Given the description of an element on the screen output the (x, y) to click on. 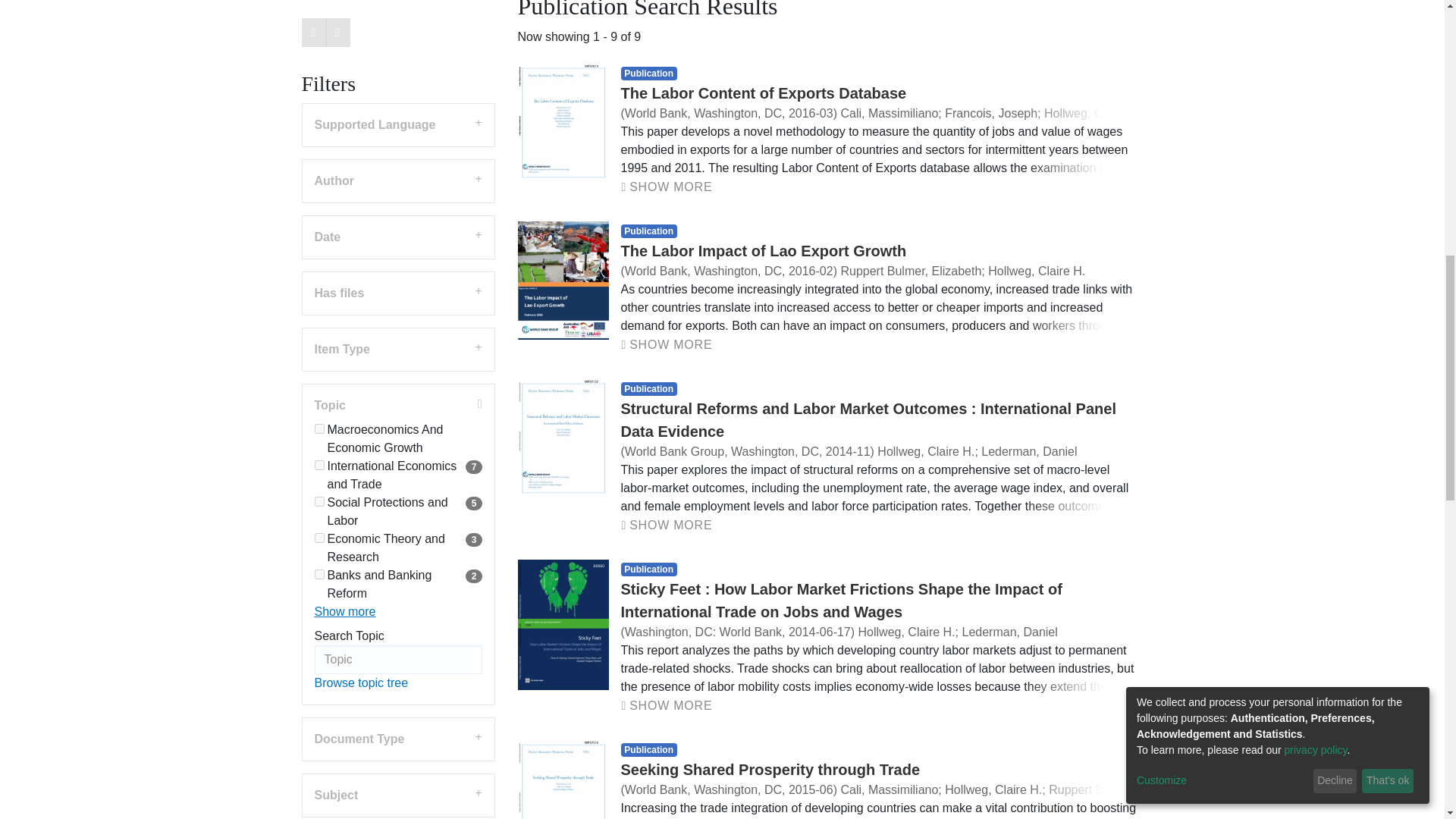
Has files (397, 206)
on (318, 341)
on (318, 378)
on (318, 450)
Author (397, 94)
on (318, 414)
Date (397, 149)
Supported Language (397, 37)
on (318, 487)
